Given the description of an element on the screen output the (x, y) to click on. 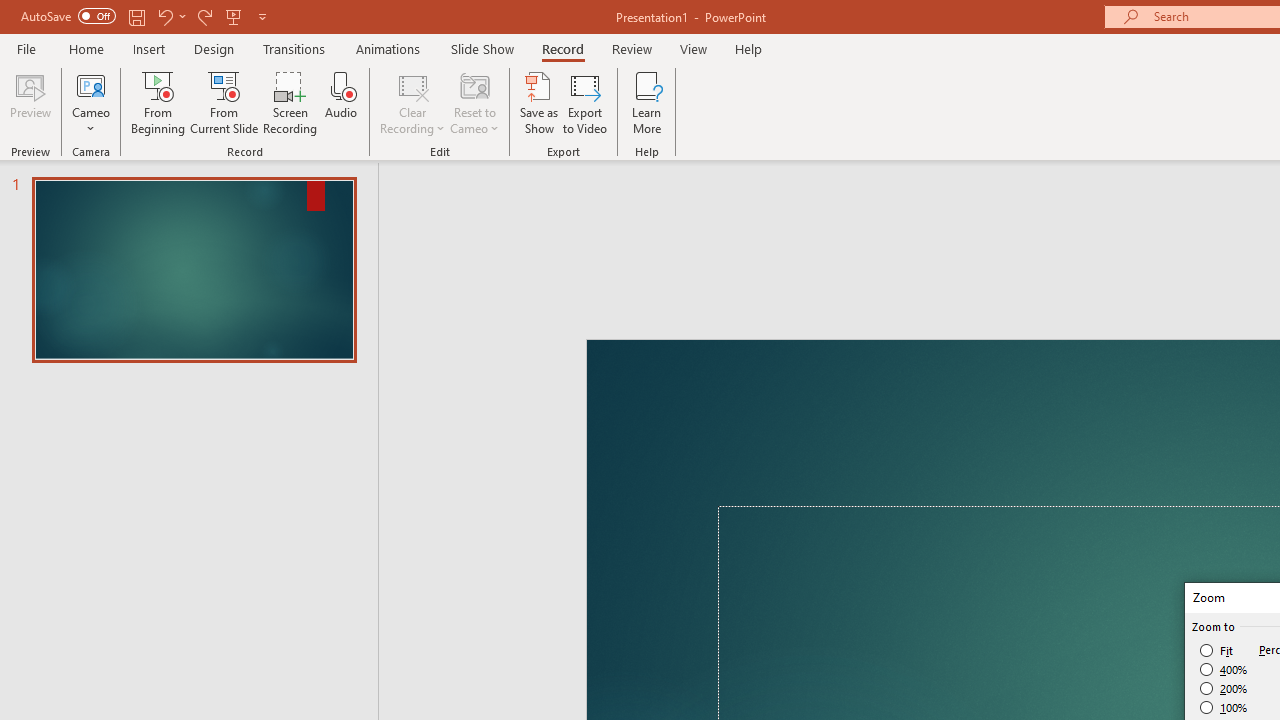
400% (1224, 669)
